Given the description of an element on the screen output the (x, y) to click on. 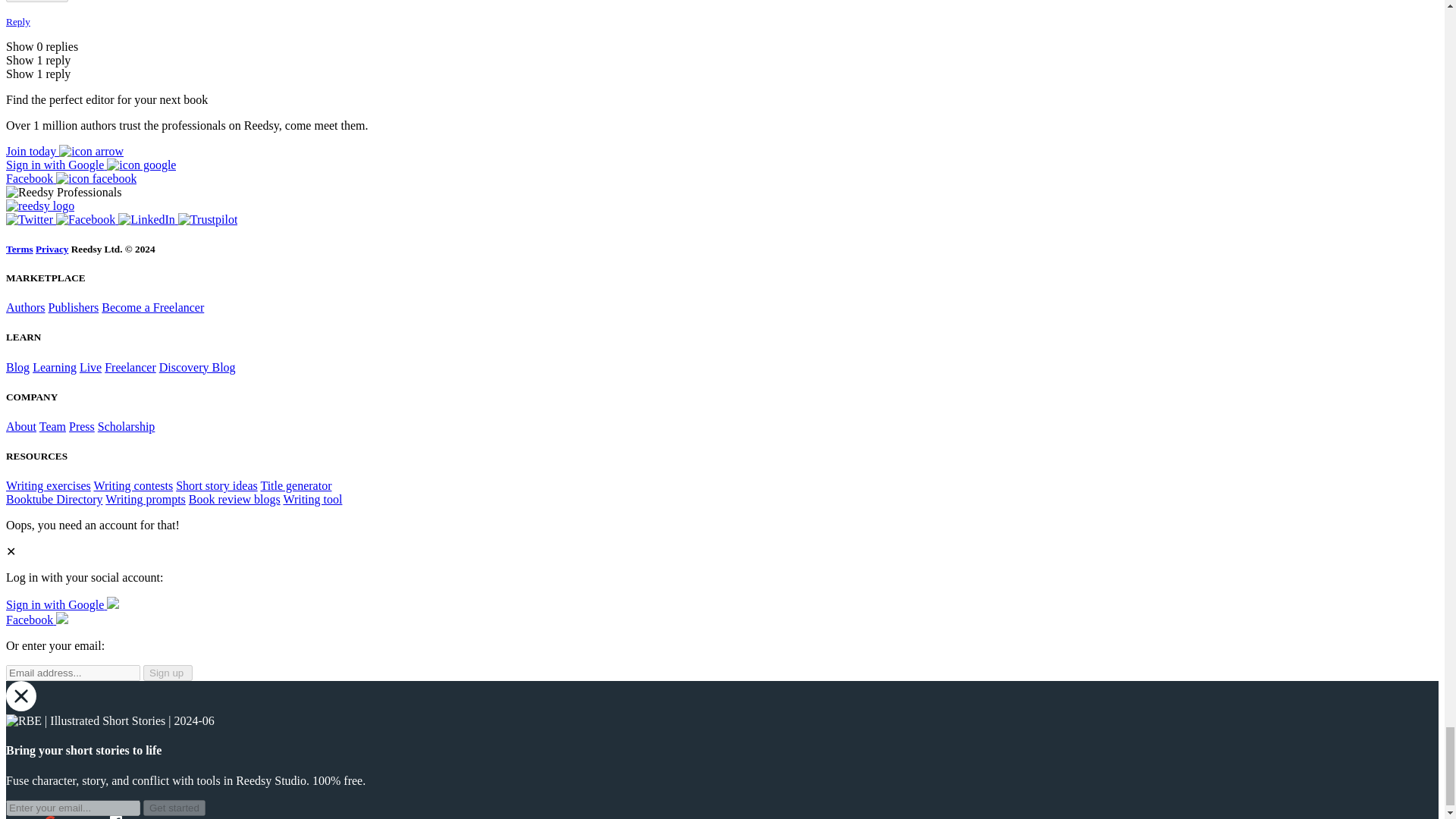
Sign in with Google (90, 164)
Sign in with Google (62, 604)
Sign in with Facebook (36, 619)
Sign up (64, 151)
Read more (36, 1)
Get started (173, 807)
Sign in with Facebook (70, 178)
Facebook (86, 219)
Twitter (30, 219)
Trustpilot (207, 219)
